Given the description of an element on the screen output the (x, y) to click on. 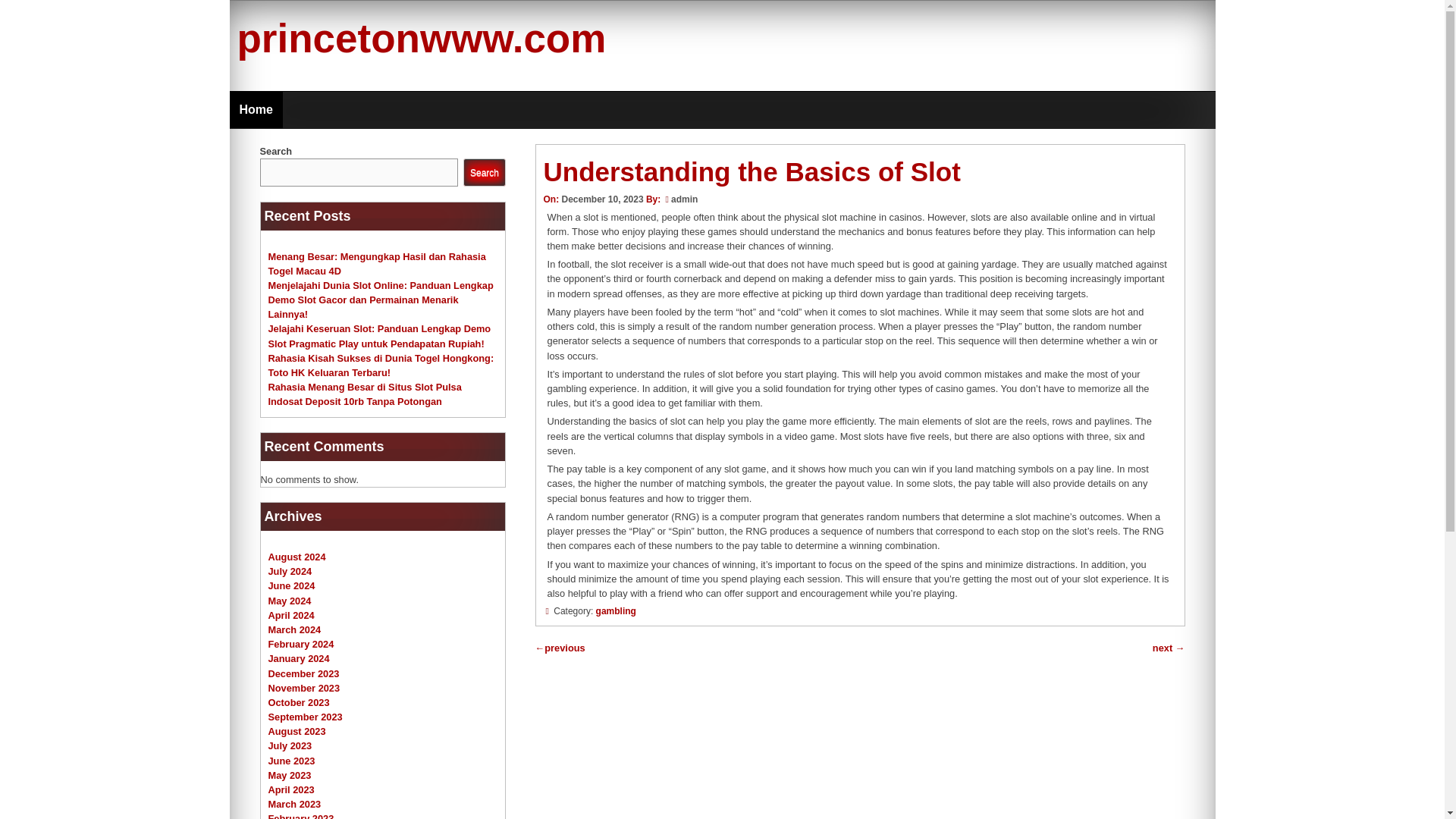
March 2023 (294, 803)
December 10, 2023 (601, 199)
June 2023 (291, 760)
February 2024 (300, 644)
July 2023 (290, 745)
Menang Besar: Mengungkap Hasil dan Rahasia Togel Macau 4D (376, 263)
August 2023 (296, 731)
admin (684, 199)
June 2024 (291, 585)
May 2024 (289, 600)
December 2023 (303, 672)
July 2024 (290, 571)
